Given the description of an element on the screen output the (x, y) to click on. 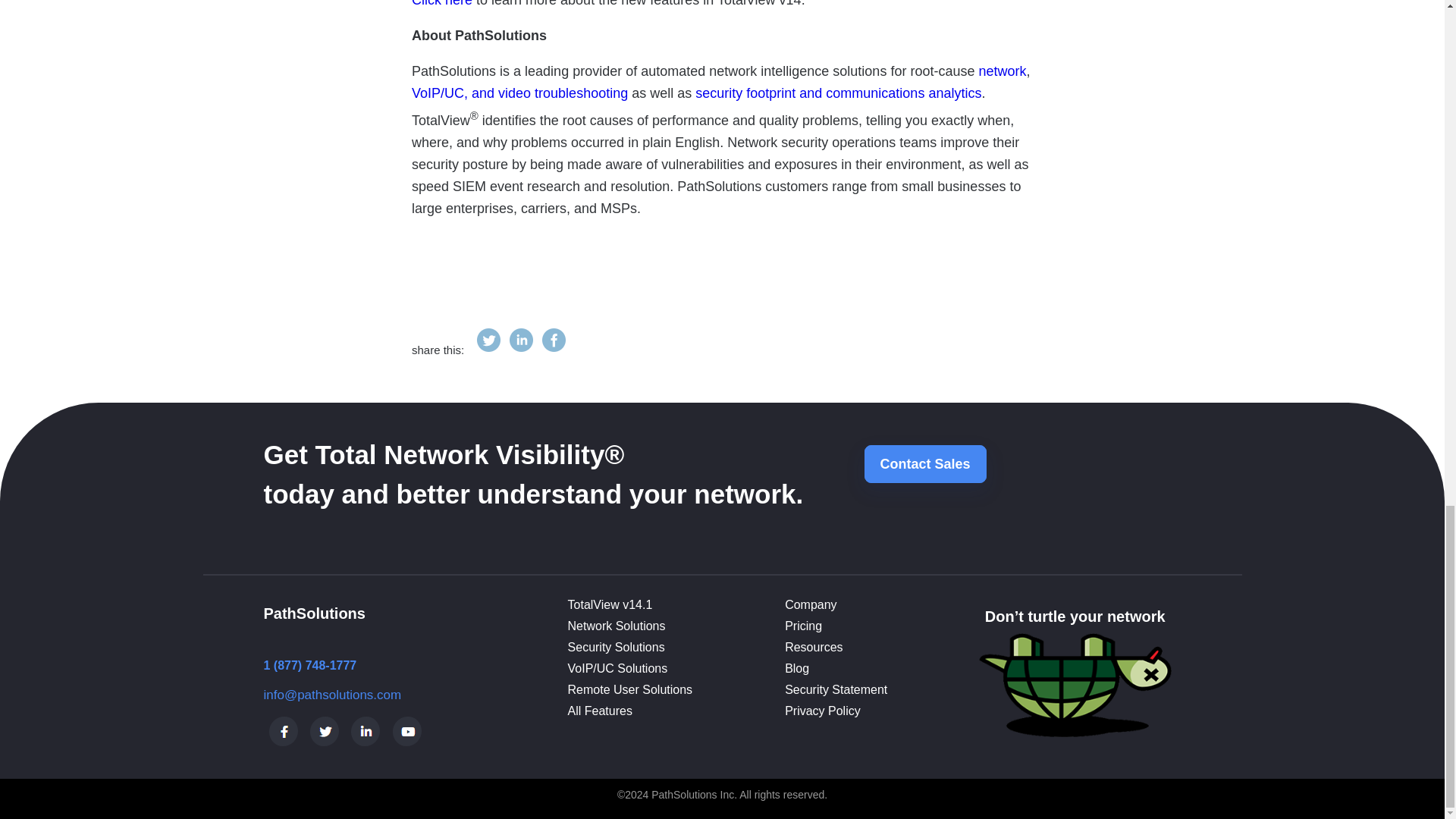
facebook (553, 349)
twitter (488, 349)
linkedin (520, 349)
